Given the description of an element on the screen output the (x, y) to click on. 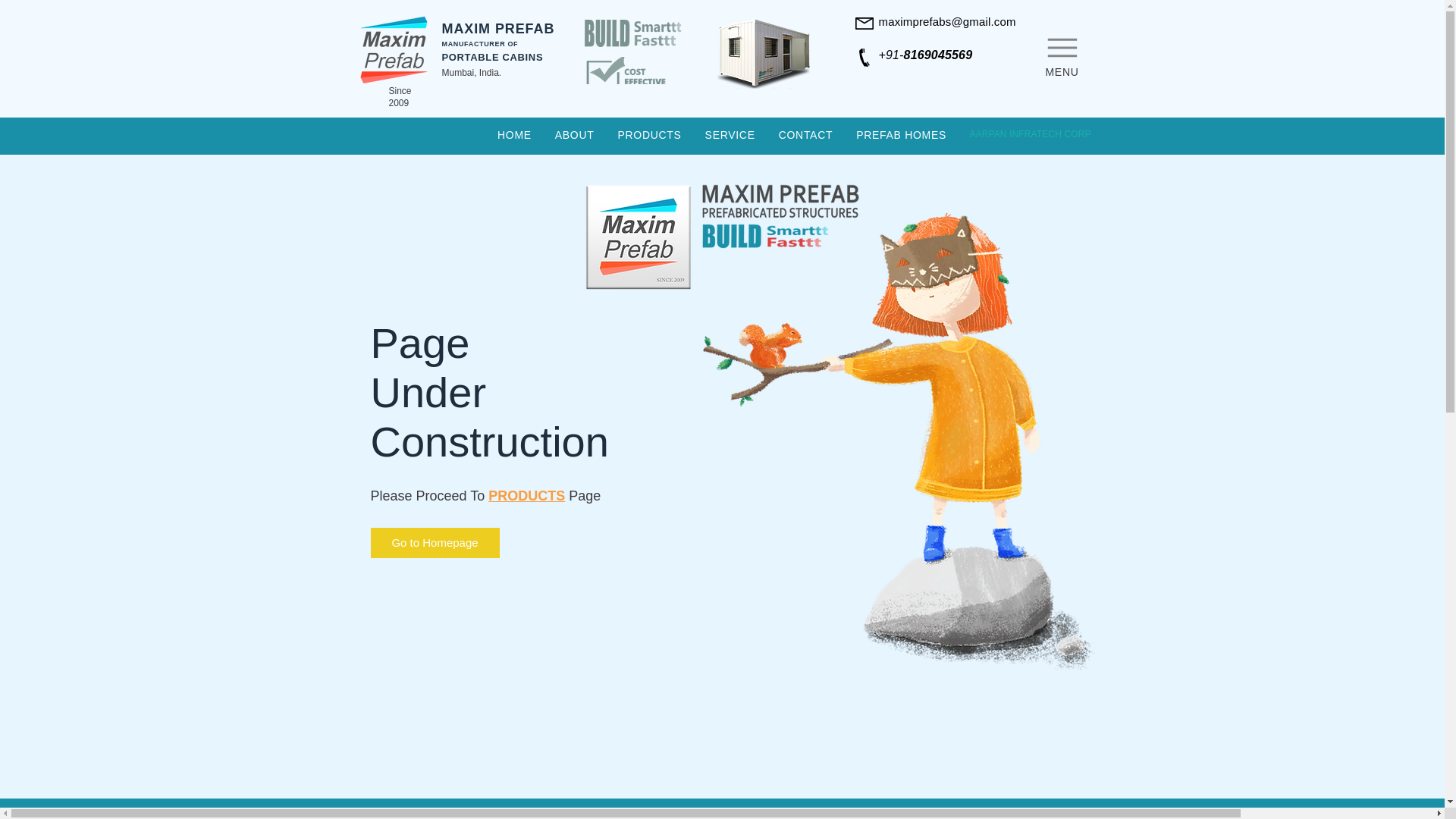
HOME (513, 134)
ABOUT (574, 134)
PRODUCTS (649, 134)
PREFAB HOMES (901, 134)
MENU (1061, 52)
SERVICE (728, 134)
CONTACT (805, 134)
